Given the description of an element on the screen output the (x, y) to click on. 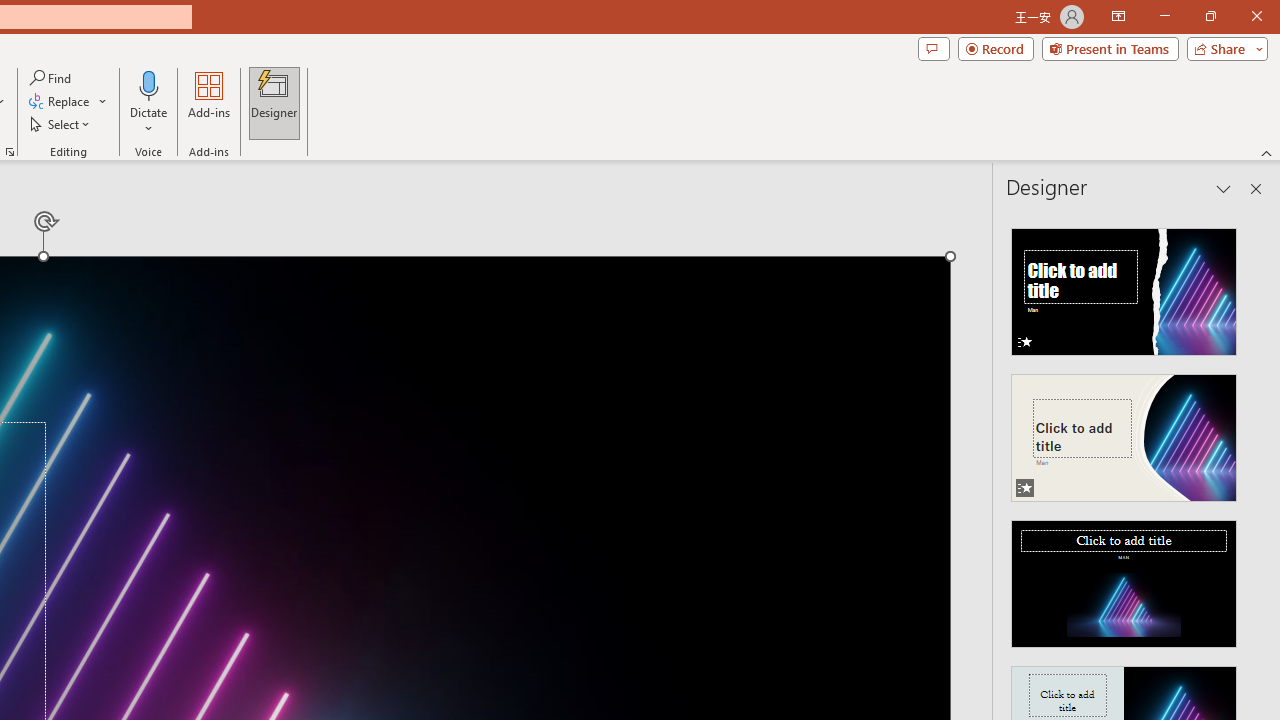
Class: NetUIImage (1124, 584)
Designer (274, 102)
Dictate (149, 102)
Ribbon Display Options (1118, 16)
Recommended Design: Animation (1124, 286)
Record (995, 48)
Replace... (68, 101)
Dictate (149, 84)
Replace... (60, 101)
Design Idea (1124, 577)
Minimize (1164, 16)
Format Object... (9, 151)
Comments (933, 48)
Collapse the Ribbon (1267, 152)
